Given the description of an element on the screen output the (x, y) to click on. 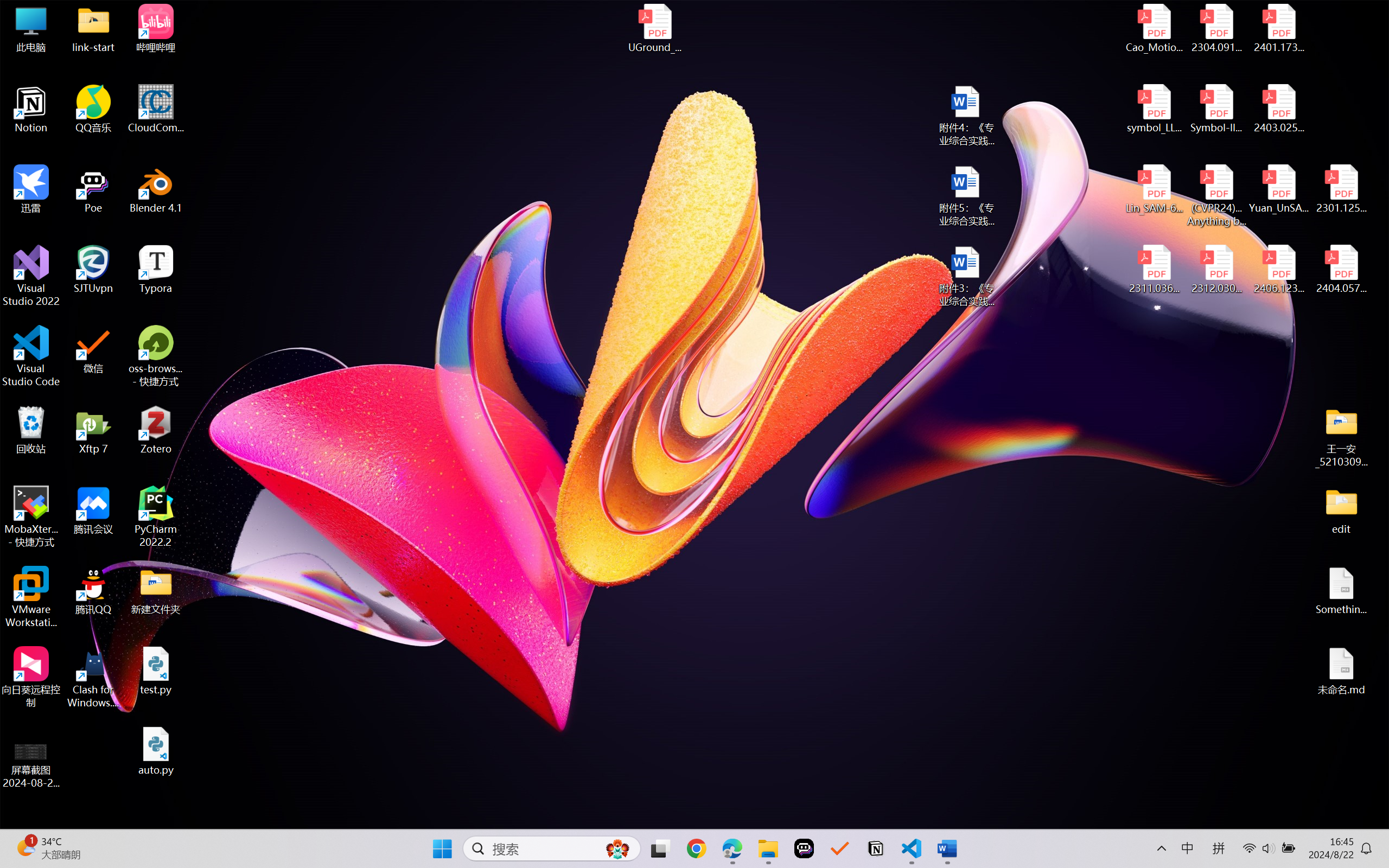
(CVPR24)Matching Anything by Segmenting Anything.pdf (1216, 195)
test.py (156, 670)
2301.12597v3.pdf (1340, 189)
PyCharm 2022.2 (156, 516)
2311.03658v2.pdf (1154, 269)
